Given the description of an element on the screen output the (x, y) to click on. 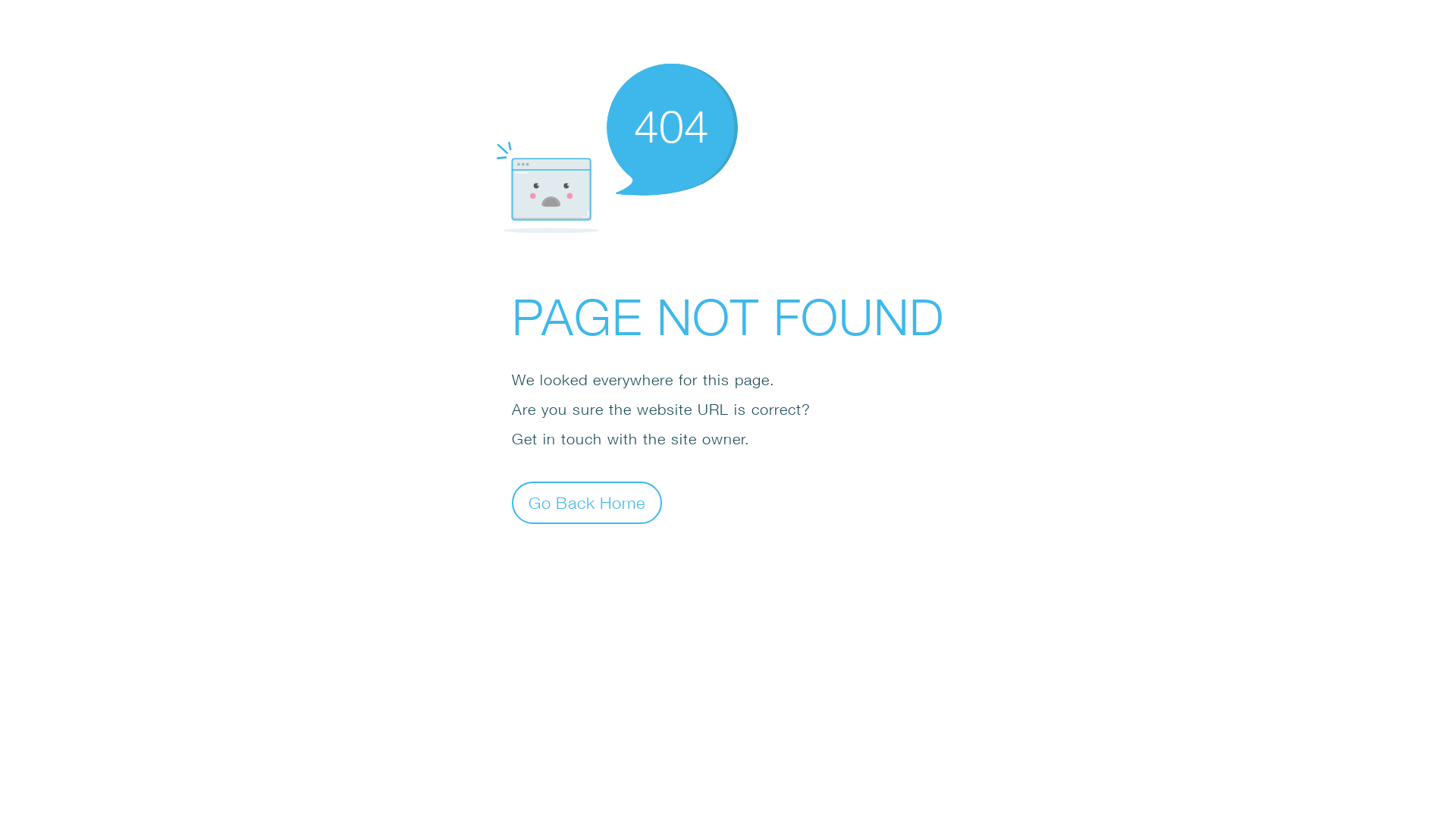
Go Back Home Element type: text (586, 502)
